Given the description of an element on the screen output the (x, y) to click on. 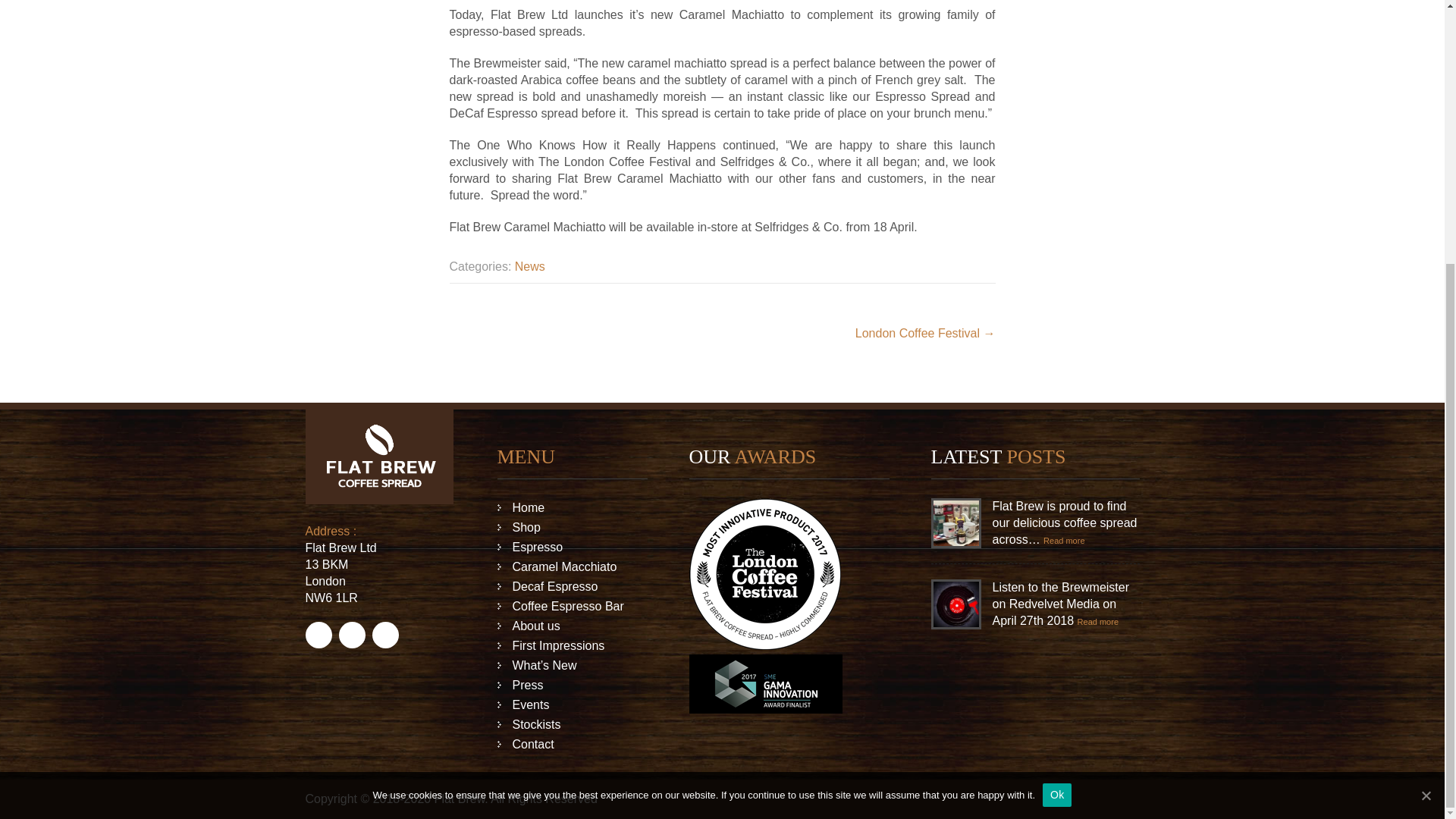
View all posts in News (529, 266)
News (529, 266)
instagram (385, 634)
Read more (1097, 620)
Caramel Macchiato (572, 567)
Press (572, 685)
Coffee Espresso Bar (572, 606)
Home (572, 507)
Decaf Espresso (572, 587)
Read more (1063, 539)
Contact (572, 744)
About us (572, 626)
Events (572, 704)
Espresso (572, 547)
First Impressions (572, 646)
